Given the description of an element on the screen output the (x, y) to click on. 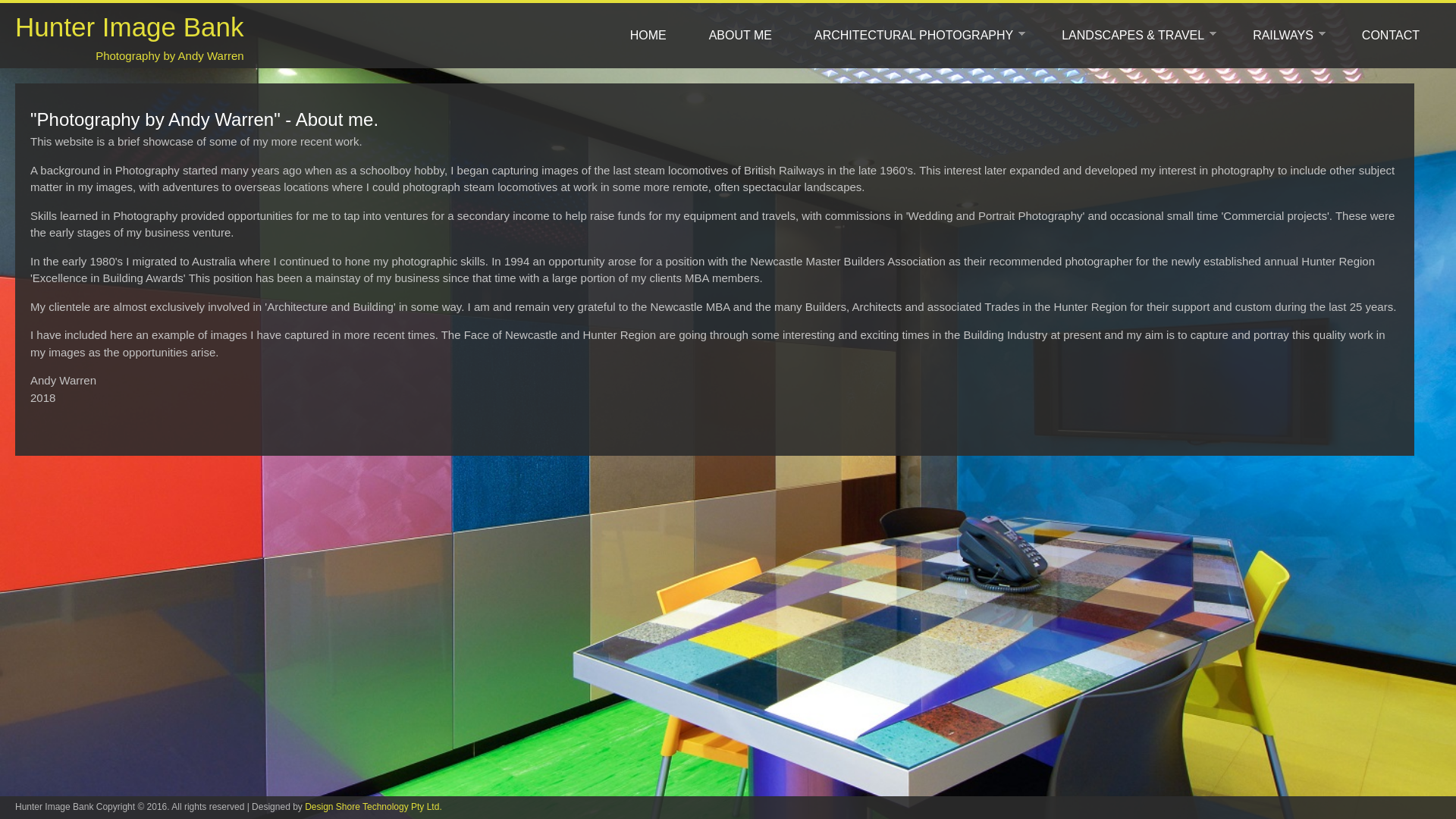
ABOUT ME (740, 35)
HOME (647, 35)
CONTACT (1390, 35)
